Given the description of an element on the screen output the (x, y) to click on. 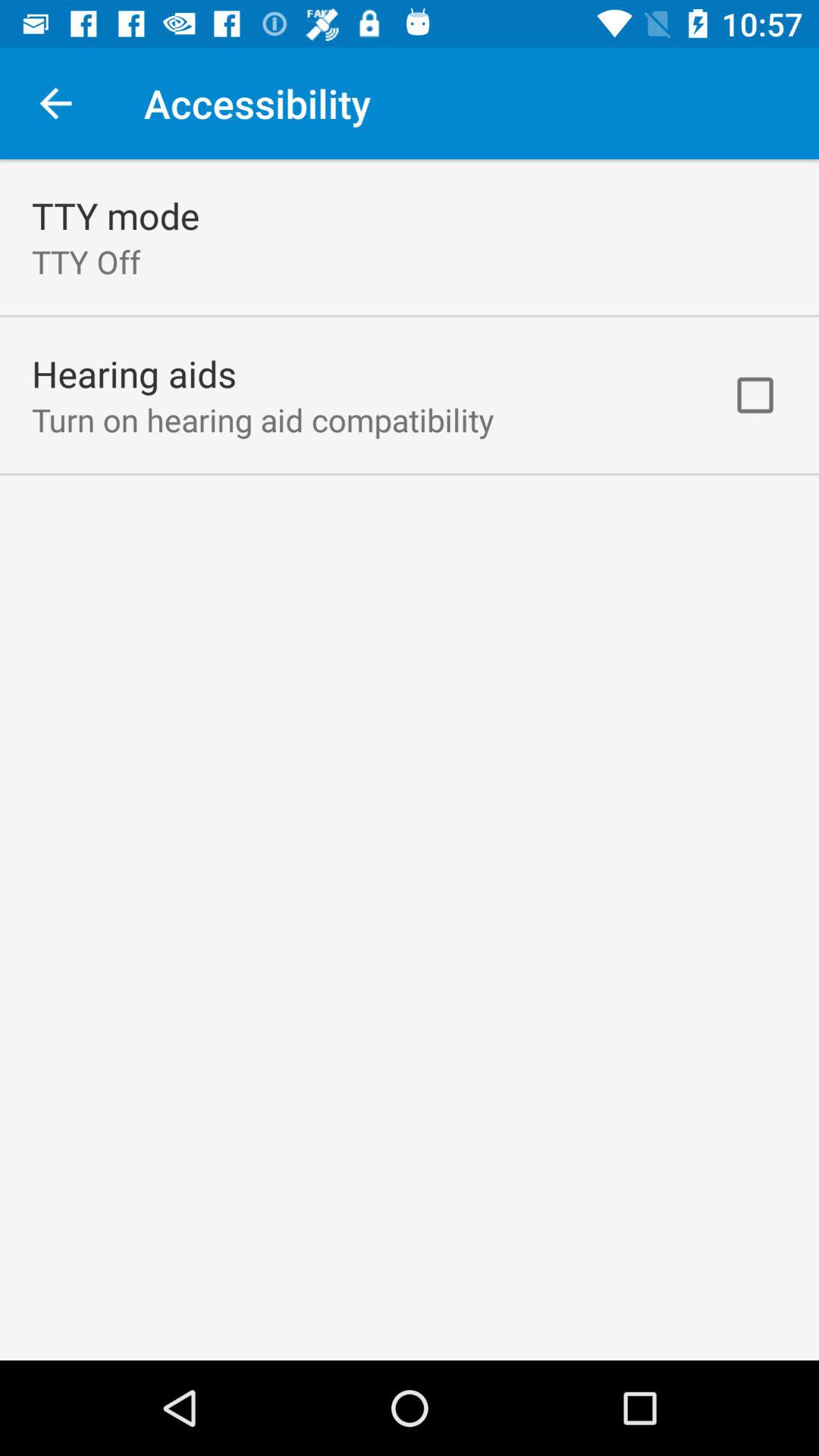
launch turn on hearing icon (262, 419)
